Given the description of an element on the screen output the (x, y) to click on. 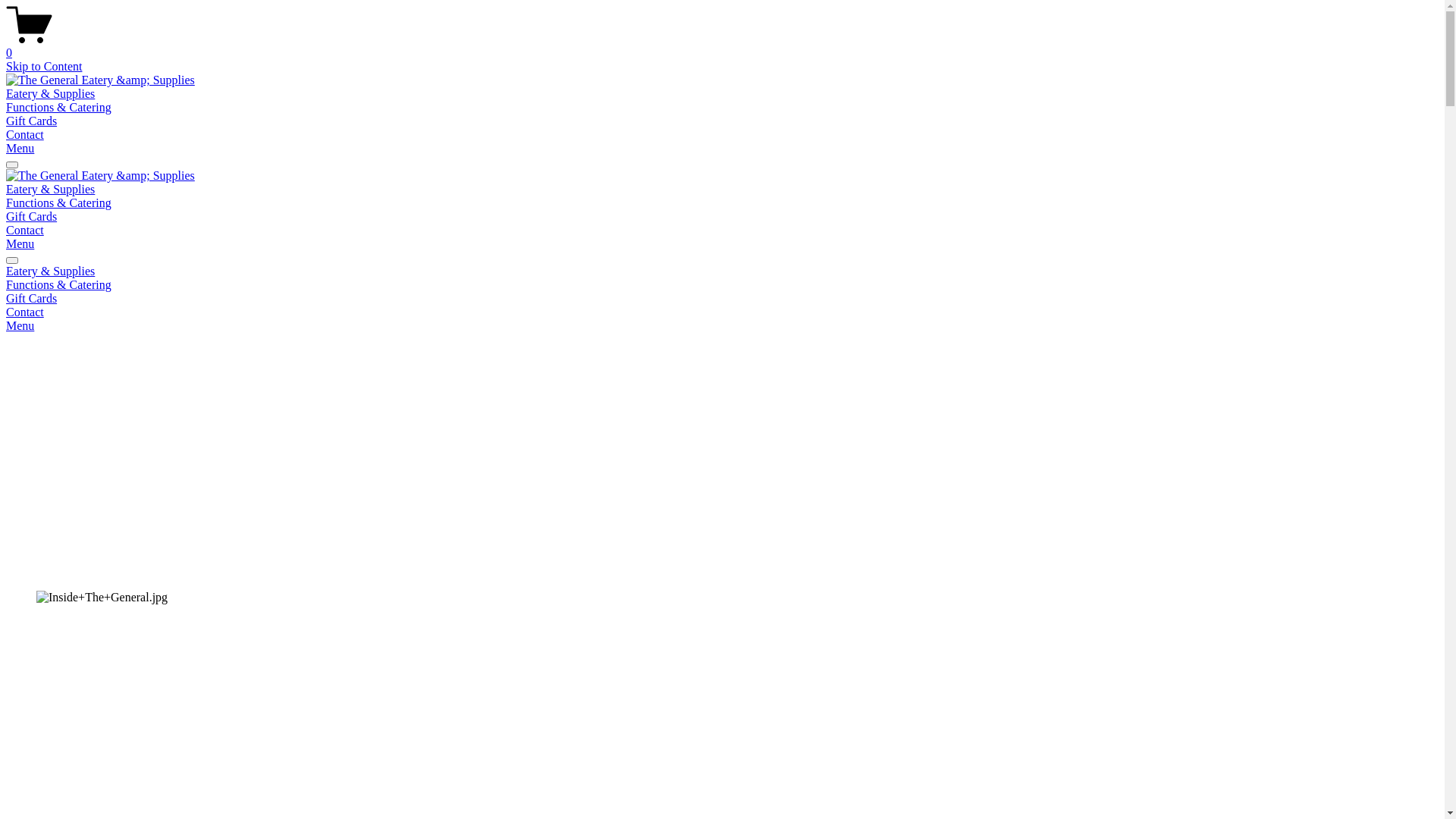
Gift Cards Element type: text (31, 216)
Gift Cards Element type: text (31, 297)
Contact Element type: text (24, 229)
Gift Cards Element type: text (31, 120)
Menu Element type: text (20, 147)
Contact Element type: text (24, 134)
Functions & Catering Element type: text (722, 284)
Menu Element type: text (20, 243)
Contact Element type: text (722, 312)
Skip to Content Element type: text (43, 65)
Eatery & Supplies Element type: text (722, 271)
Menu Element type: text (20, 325)
Eatery & Supplies Element type: text (50, 93)
Functions & Catering Element type: text (58, 106)
Functions & Catering Element type: text (58, 202)
0 Element type: text (722, 45)
Eatery & Supplies Element type: text (50, 188)
